Given the description of an element on the screen output the (x, y) to click on. 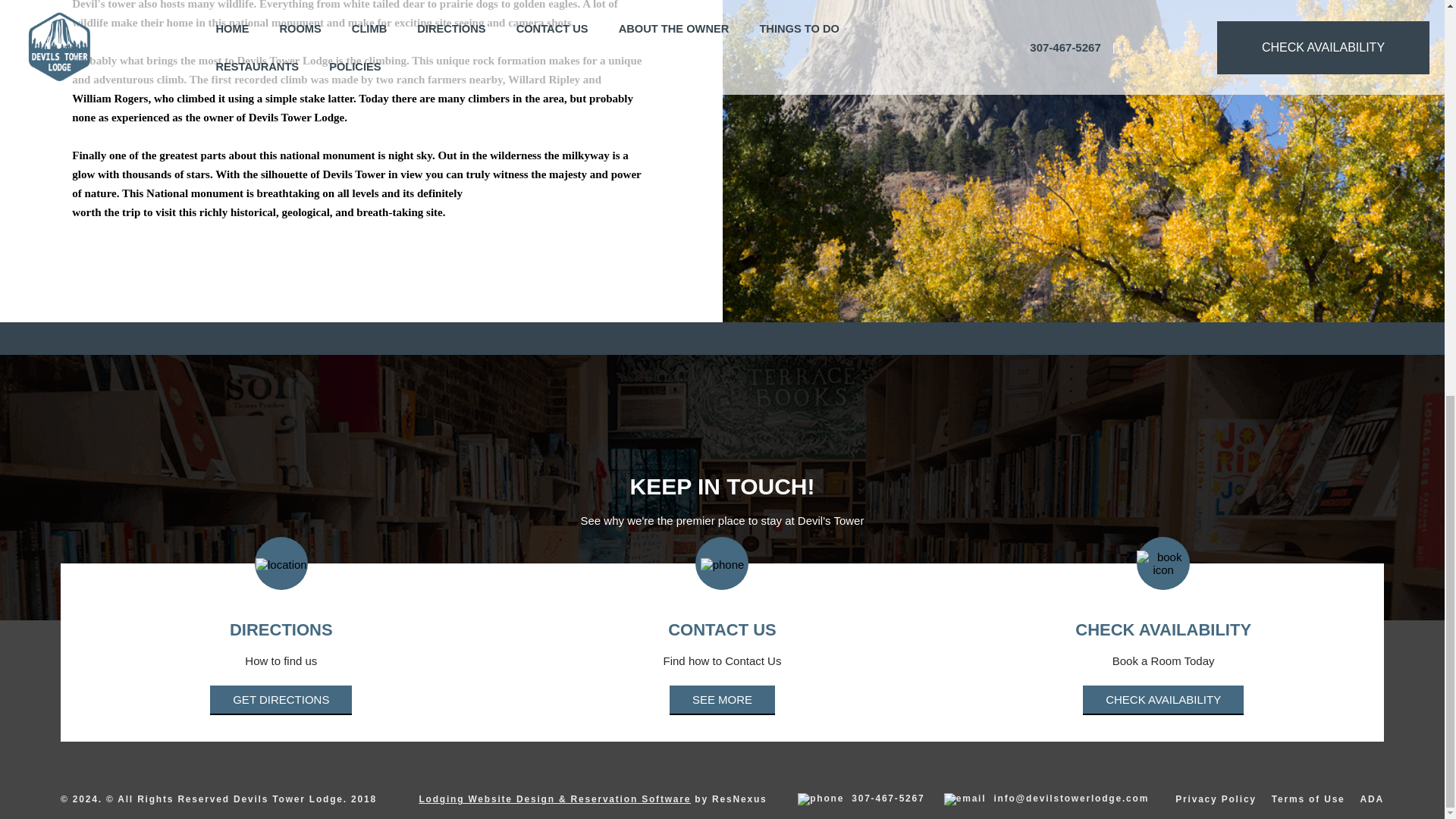
SEE MORE (721, 699)
CHECK AVAILABILITY (1163, 699)
307-467-5267 (860, 799)
Privacy Policy (1215, 798)
ADA (1371, 798)
Terms of Use (1308, 798)
GET DIRECTIONS (280, 699)
